Given the description of an element on the screen output the (x, y) to click on. 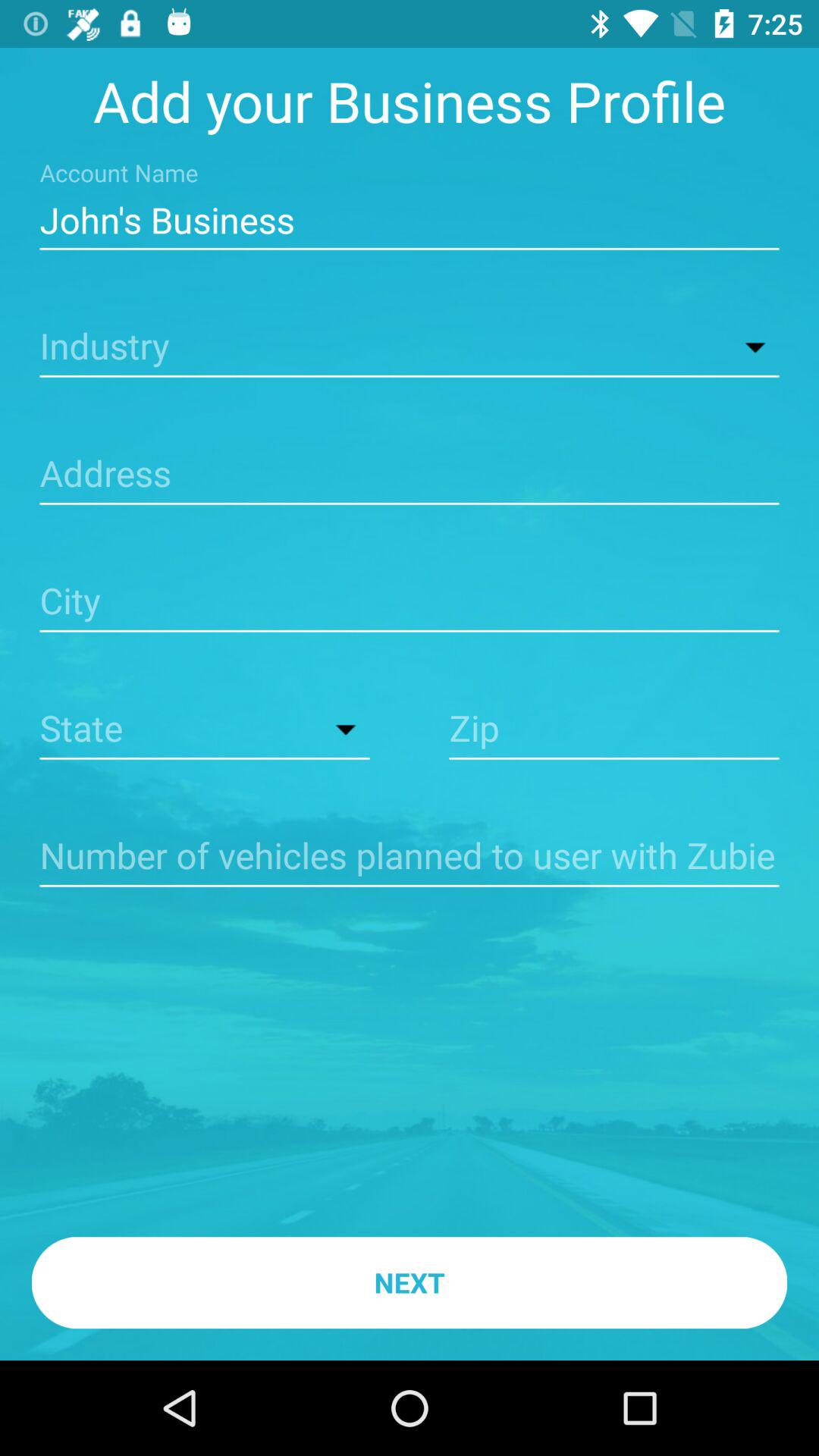
shows empty line (409, 857)
